Given the description of an element on the screen output the (x, y) to click on. 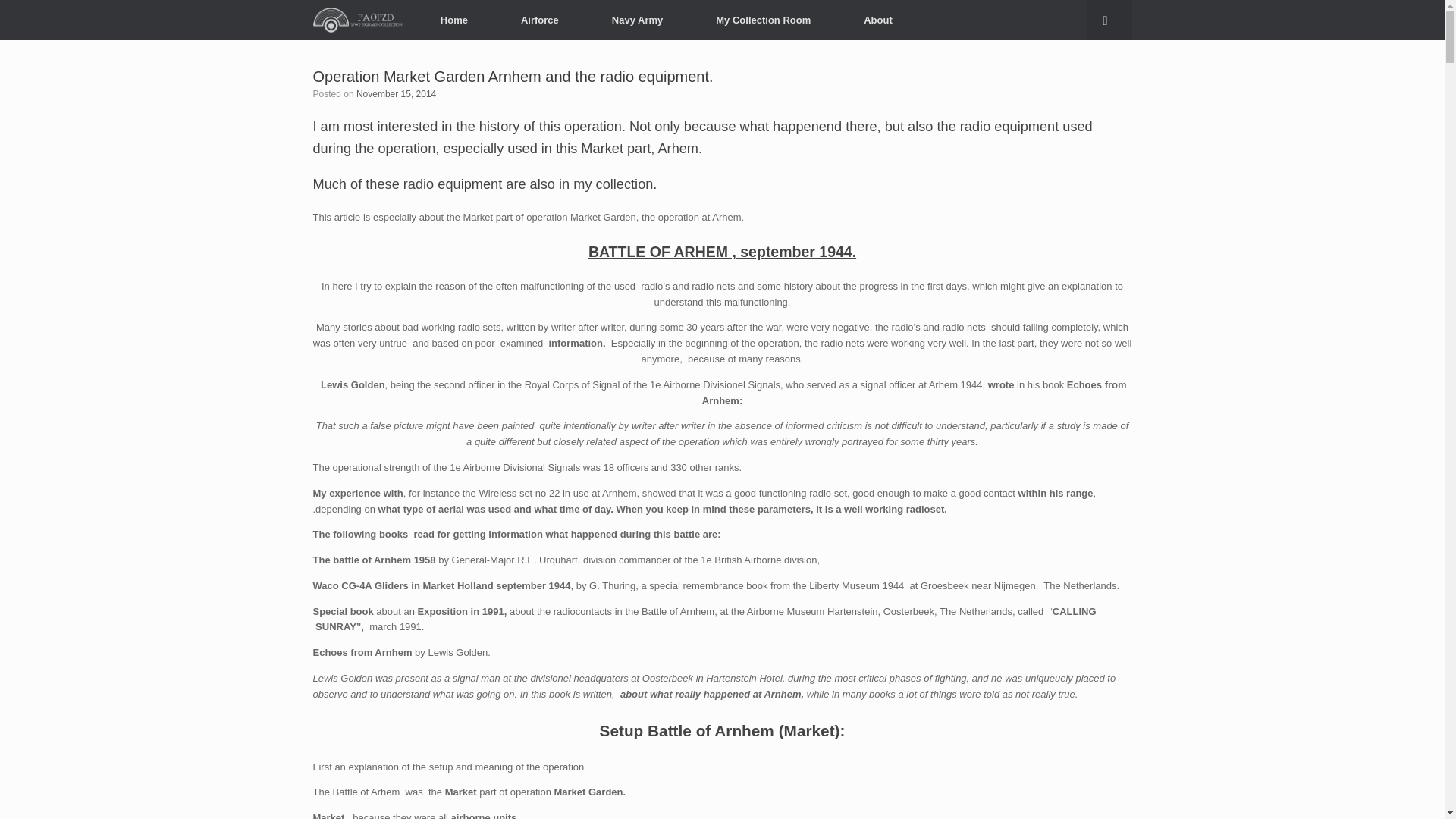
Home (454, 20)
Navy Army (636, 20)
16:51 (395, 93)
Airforce (540, 20)
My Collection Room (762, 20)
November 15, 2014 (395, 93)
About (877, 20)
